Given the description of an element on the screen output the (x, y) to click on. 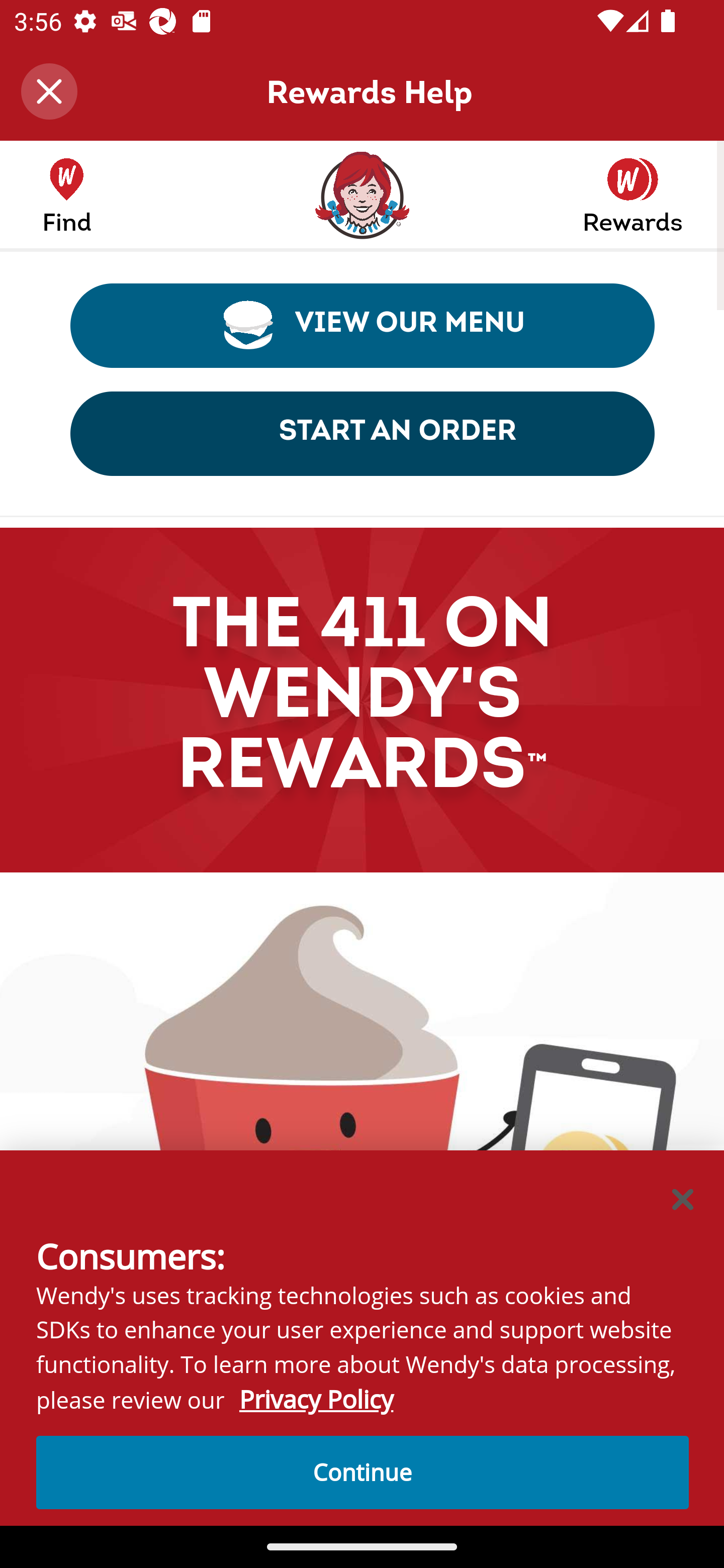
Close (49, 91)
Home (361, 198)
VIEW OUR MENU (362, 325)
START AN ORDER (362, 433)
Close (683, 1198)
Privacy Policy (315, 1399)
Continue (362, 1471)
